Given the description of an element on the screen output the (x, y) to click on. 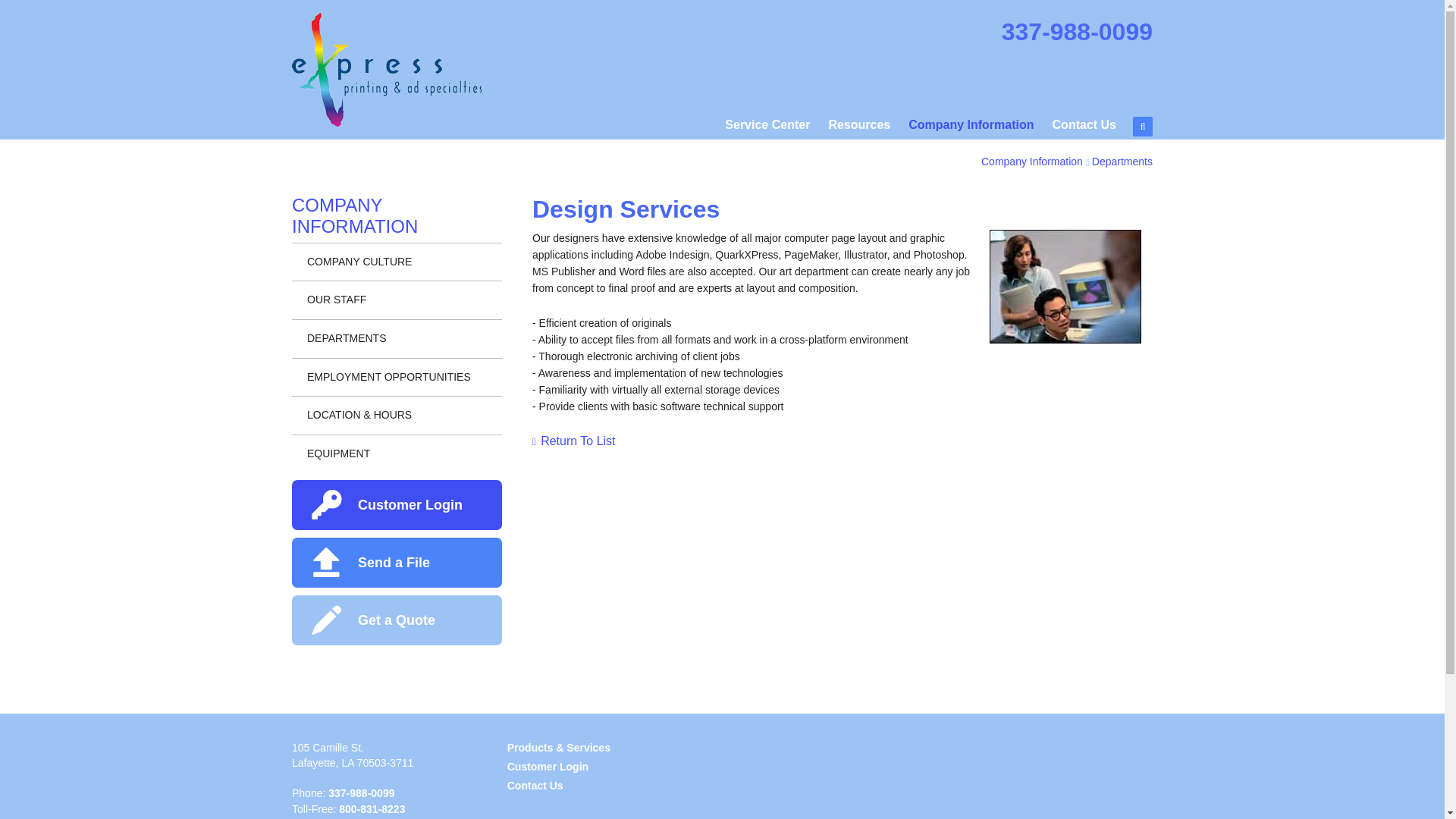
logo (386, 69)
Service Center (767, 127)
